Given the description of an element on the screen output the (x, y) to click on. 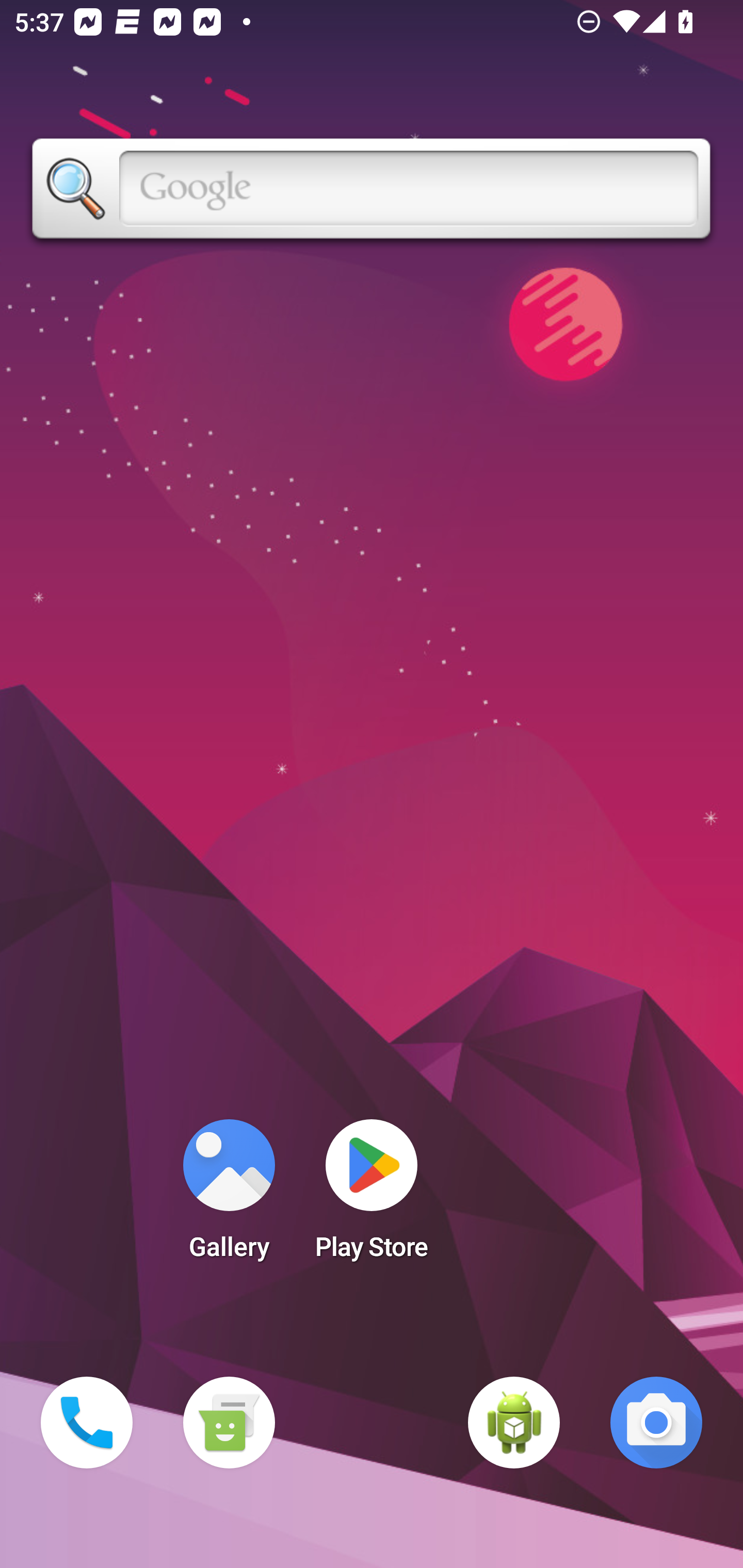
Gallery (228, 1195)
Play Store (371, 1195)
Phone (86, 1422)
Messaging (228, 1422)
WebView Browser Tester (513, 1422)
Camera (656, 1422)
